Given the description of an element on the screen output the (x, y) to click on. 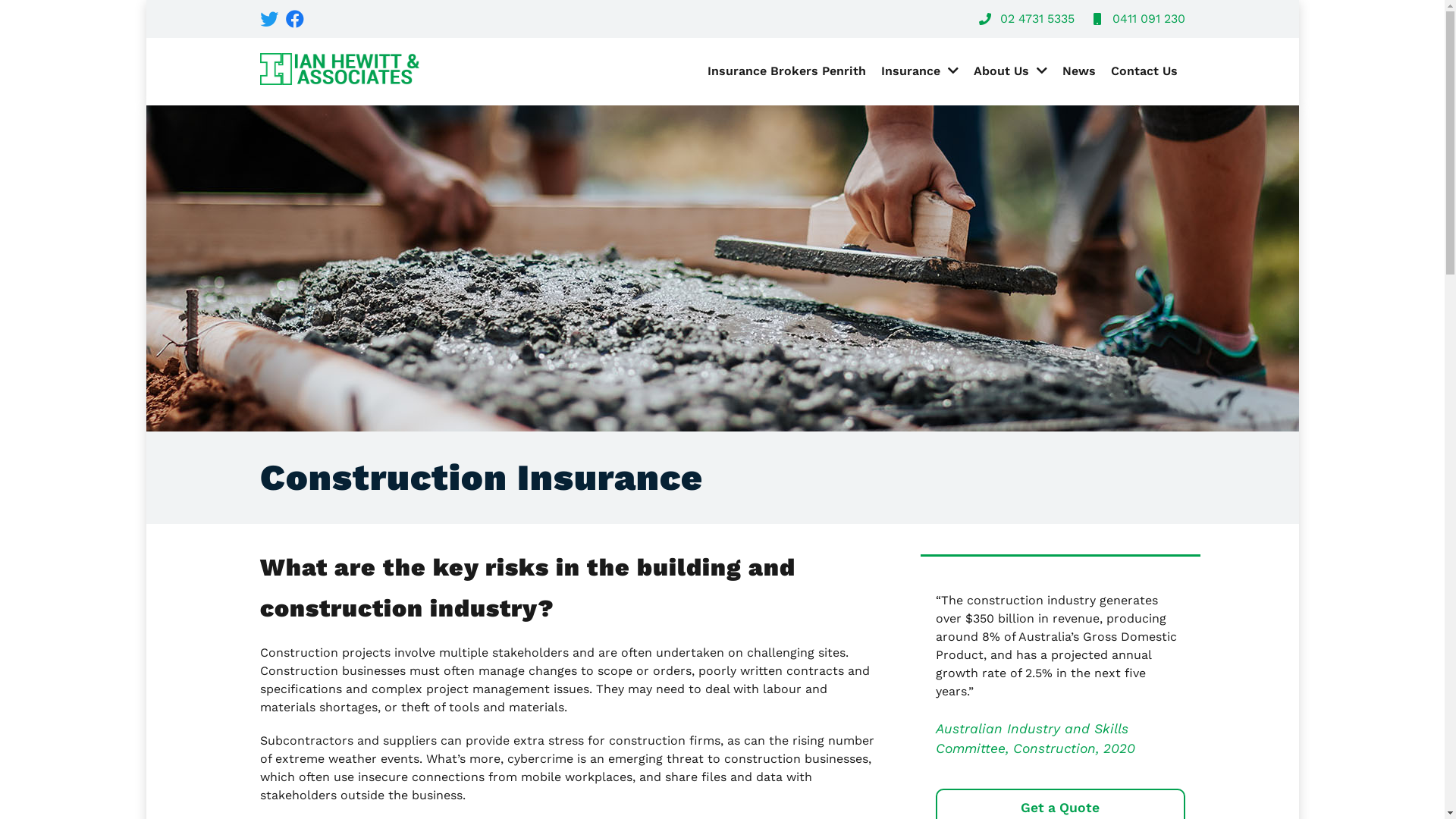
Insurance Brokers Penrith Element type: text (785, 70)
0411 091 230 Element type: text (1136, 18)
News Element type: text (1078, 70)
Contact Us Element type: text (1143, 70)
02 4731 5335 Element type: text (1024, 18)
Insurance Element type: text (919, 70)
About Us Element type: text (1010, 70)
